Given the description of an element on the screen output the (x, y) to click on. 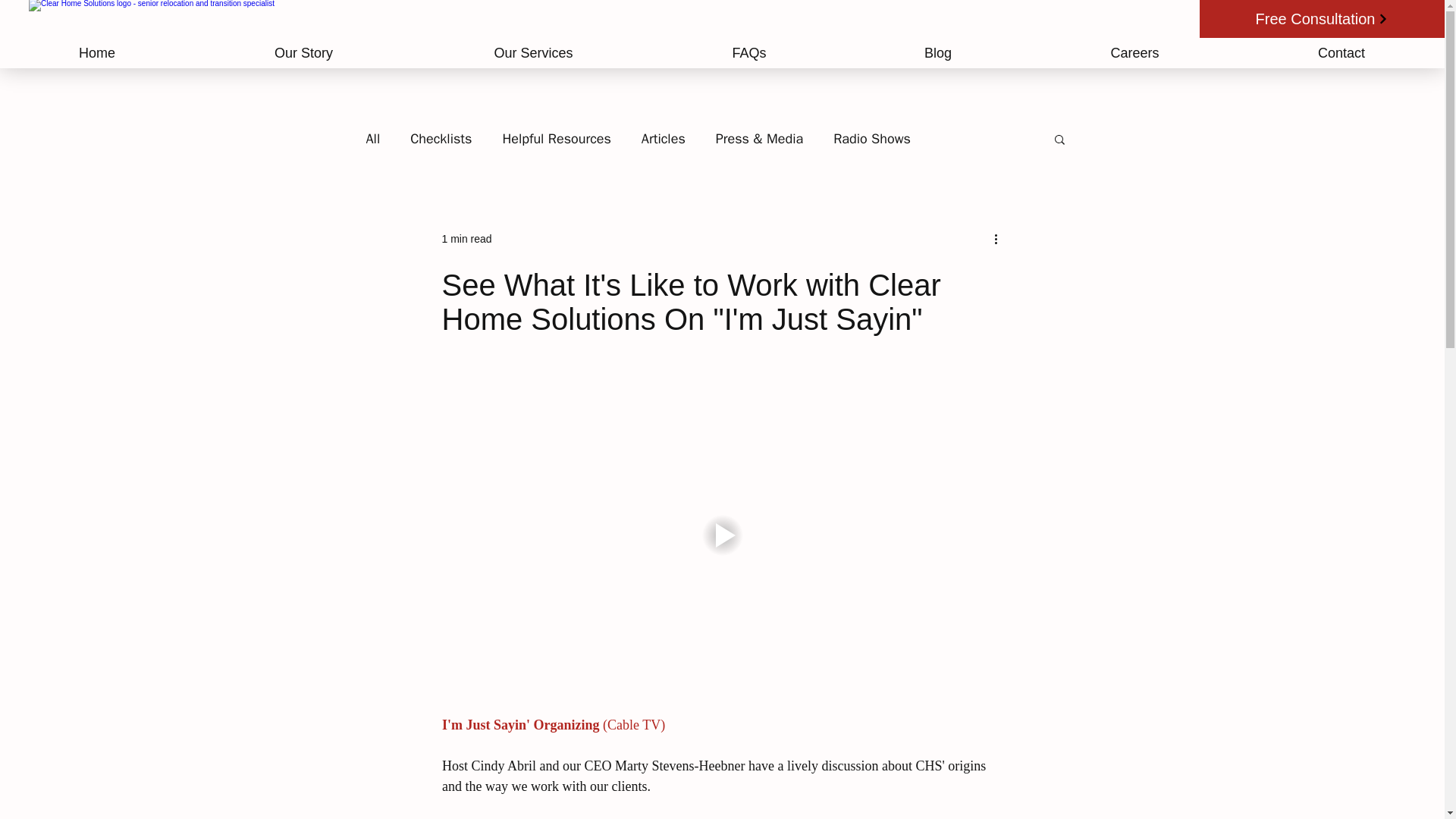
1 min read (466, 237)
Our Services (533, 52)
Radio Shows (871, 138)
Blog (937, 52)
Home (96, 52)
Articles (663, 138)
FAQs (748, 52)
Careers (1134, 52)
Checklists (440, 138)
Helpful Resources (556, 138)
